Given the description of an element on the screen output the (x, y) to click on. 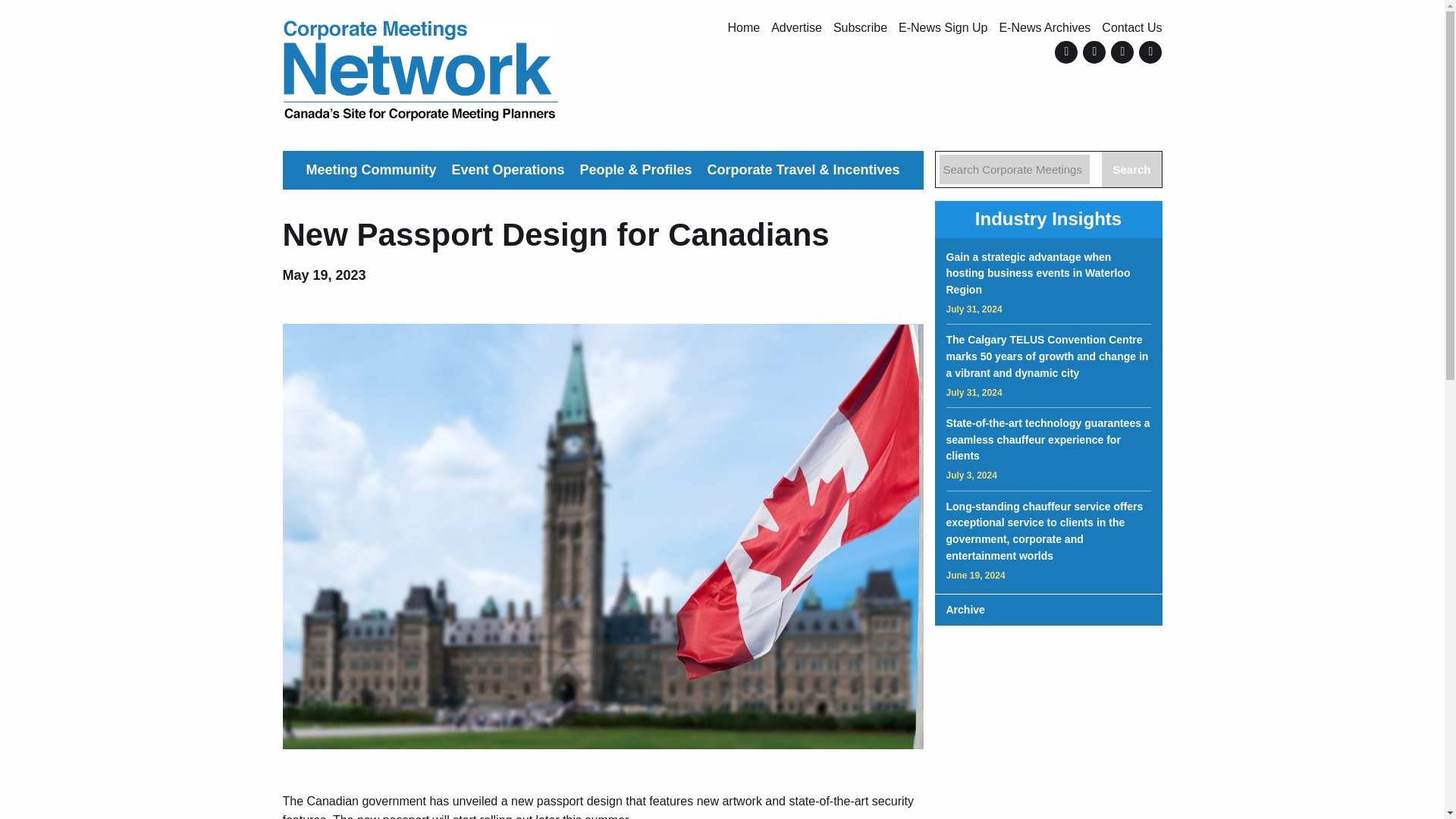
Search (1131, 169)
Search (1131, 169)
